Given the description of an element on the screen output the (x, y) to click on. 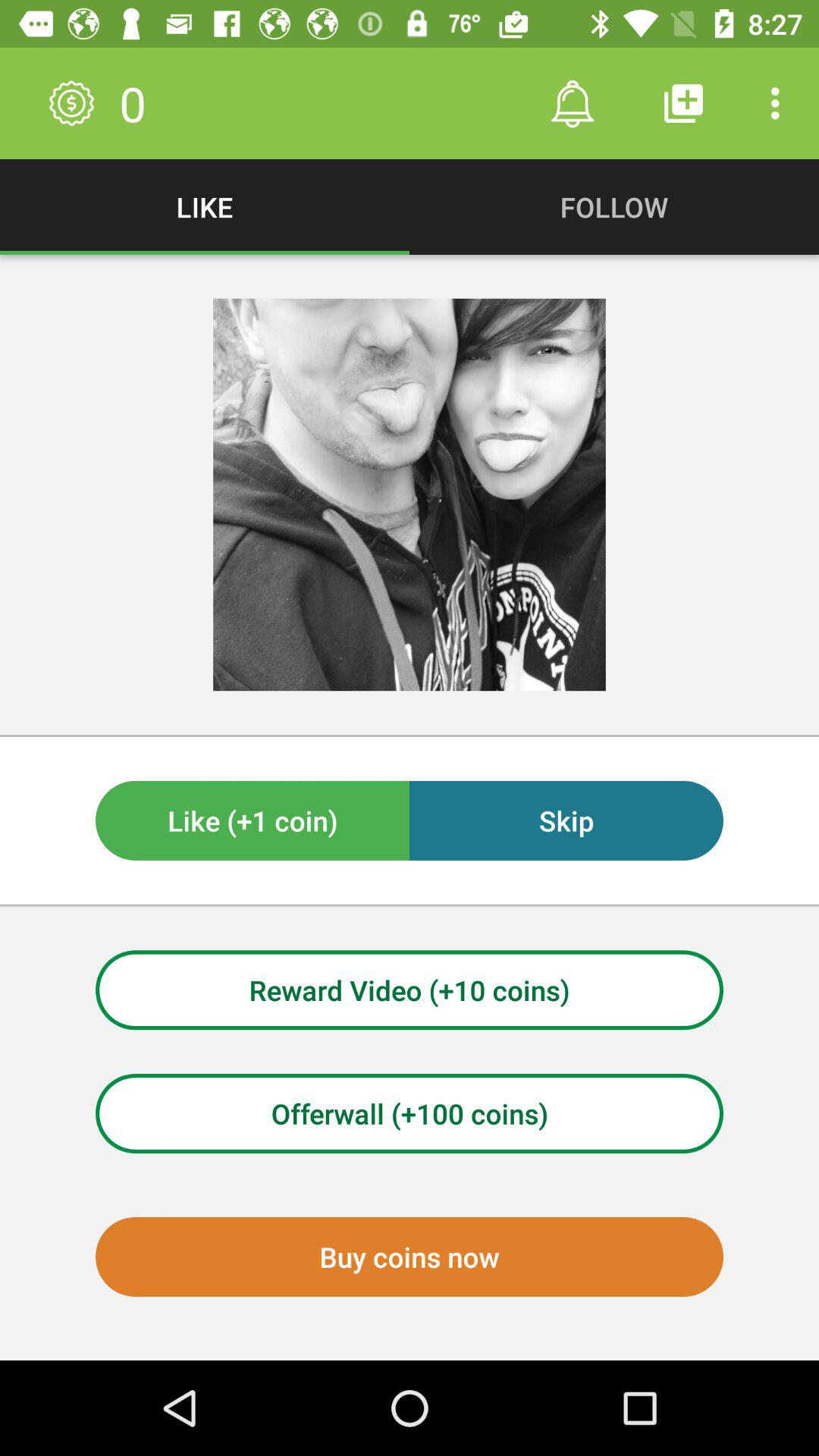
click icon to the right of 0 item (571, 103)
